Given the description of an element on the screen output the (x, y) to click on. 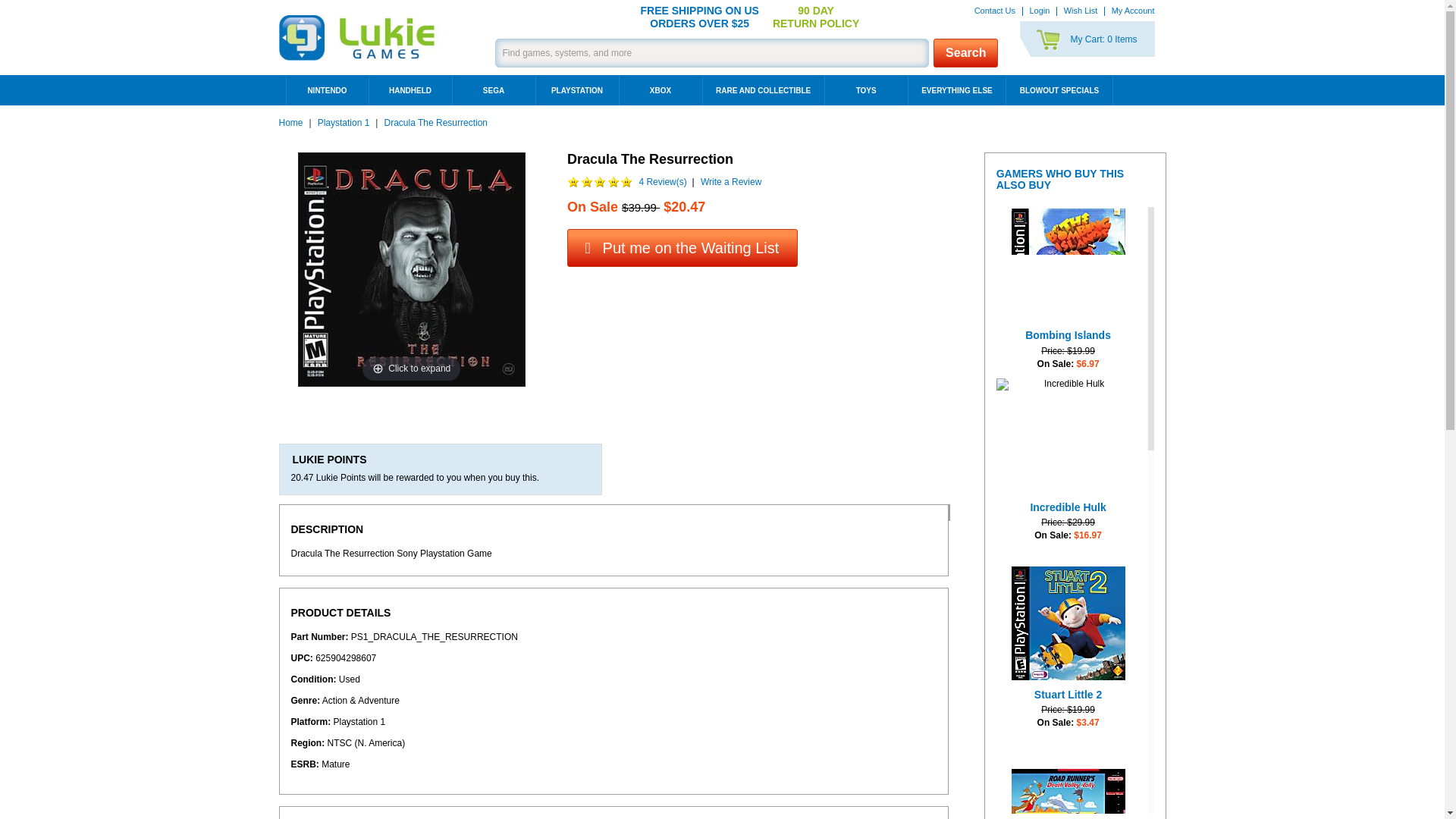
Gamers Who Buy This Also Buy (1074, 179)
4 star rating out of 4 reviews (1061, 551)
Incredible Hulk (1067, 435)
5 star rating out of 1 reviews (1067, 739)
Stuart Little 2 (1068, 623)
Search (1086, 39)
My Account (965, 52)
Road Runner's Death Valley Rally (1133, 10)
Contact Us (1068, 786)
